Given the description of an element on the screen output the (x, y) to click on. 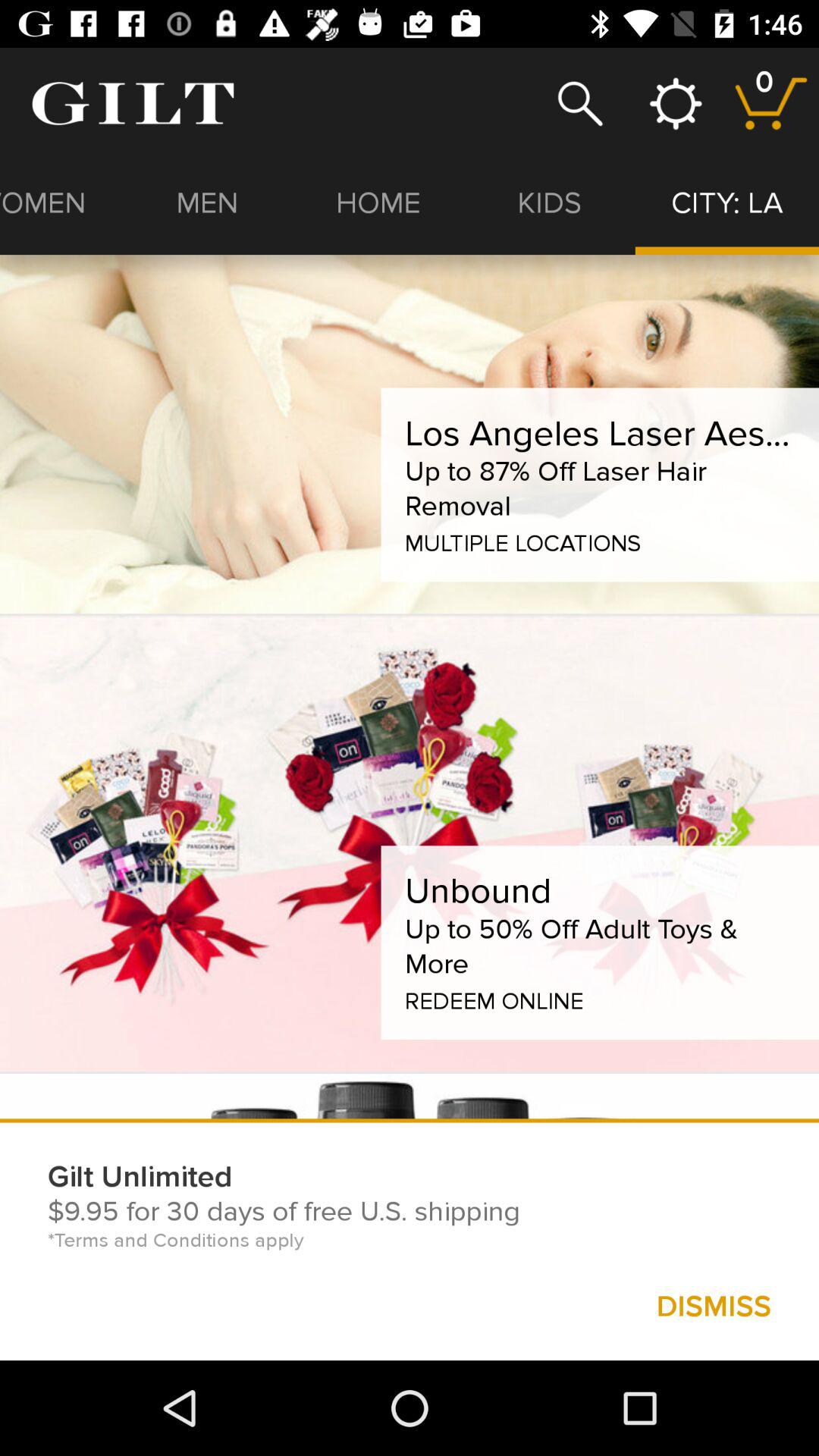
flip until redeem online (493, 997)
